Given the description of an element on the screen output the (x, y) to click on. 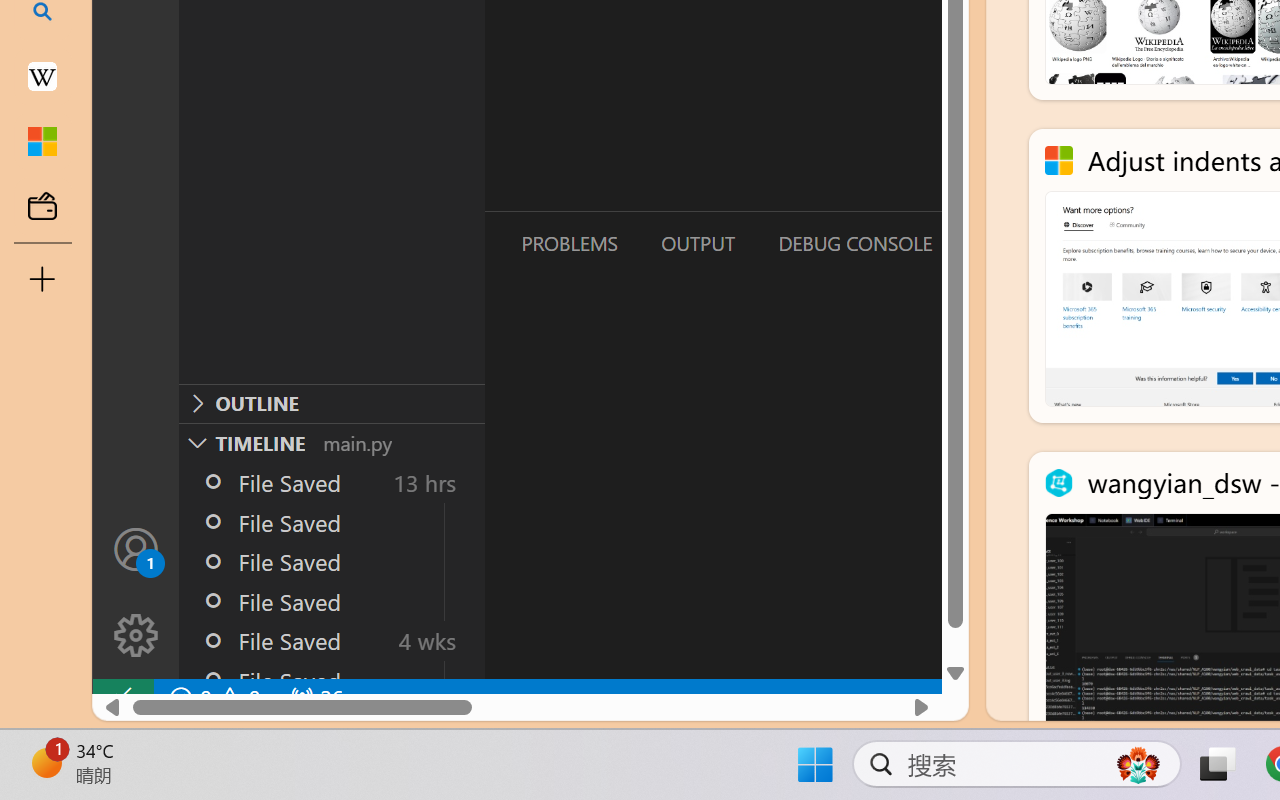
Debug Console (Ctrl+Shift+Y) (854, 243)
Manage (135, 591)
Manage (135, 635)
remote (122, 698)
Outline Section (331, 403)
Output (Ctrl+Shift+U) (696, 243)
Terminal (Ctrl+`) (1021, 243)
